Given the description of an element on the screen output the (x, y) to click on. 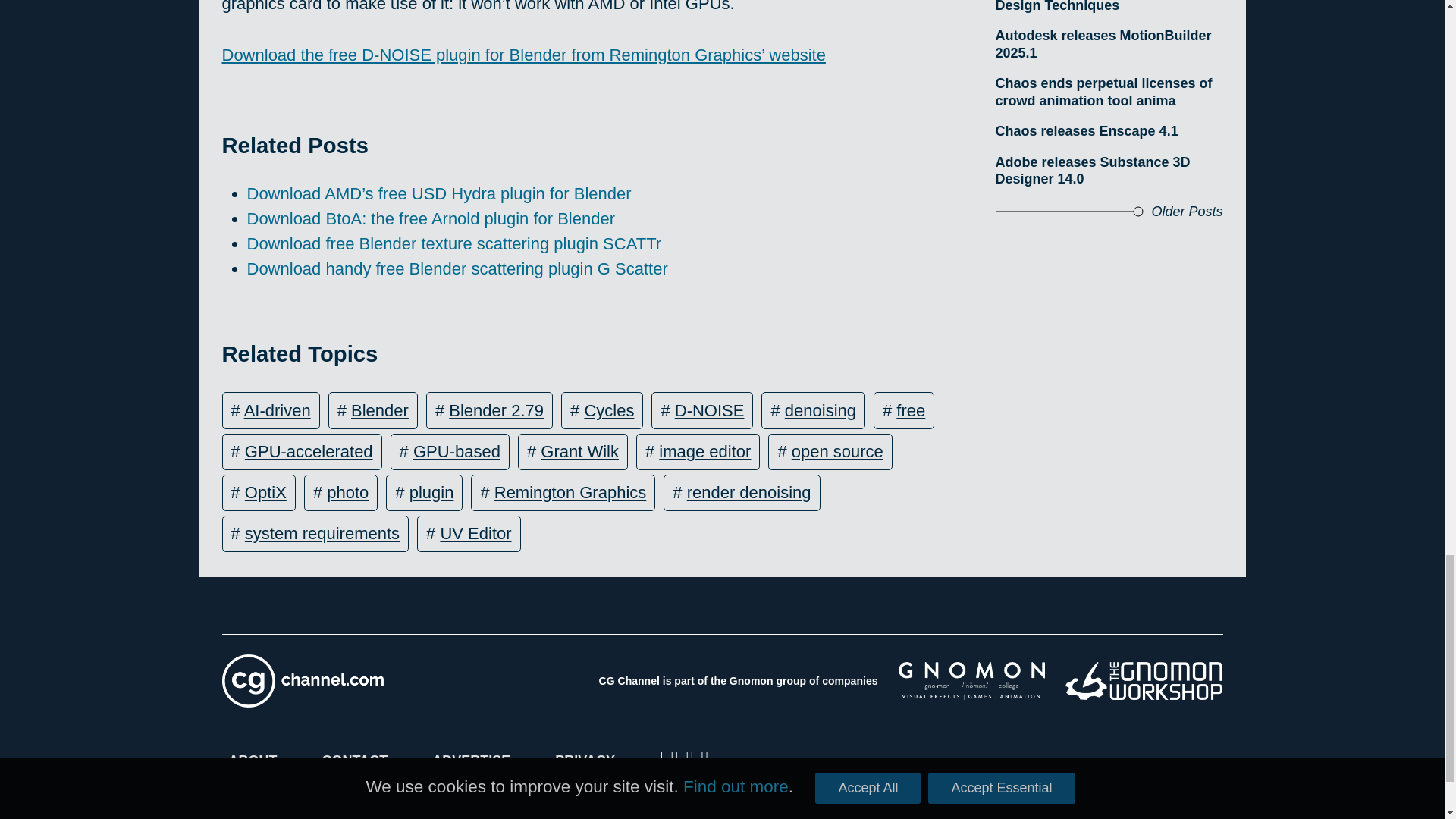
Gnomon Workshop (1143, 680)
Remington Graphics (570, 492)
Download BtoA: the free Arnold plugin for Blender (431, 218)
OptiX (265, 492)
free (910, 410)
AI-driven (277, 410)
open source (837, 451)
GPU-accelerated (308, 451)
photo (347, 492)
Blender (379, 410)
